Given the description of an element on the screen output the (x, y) to click on. 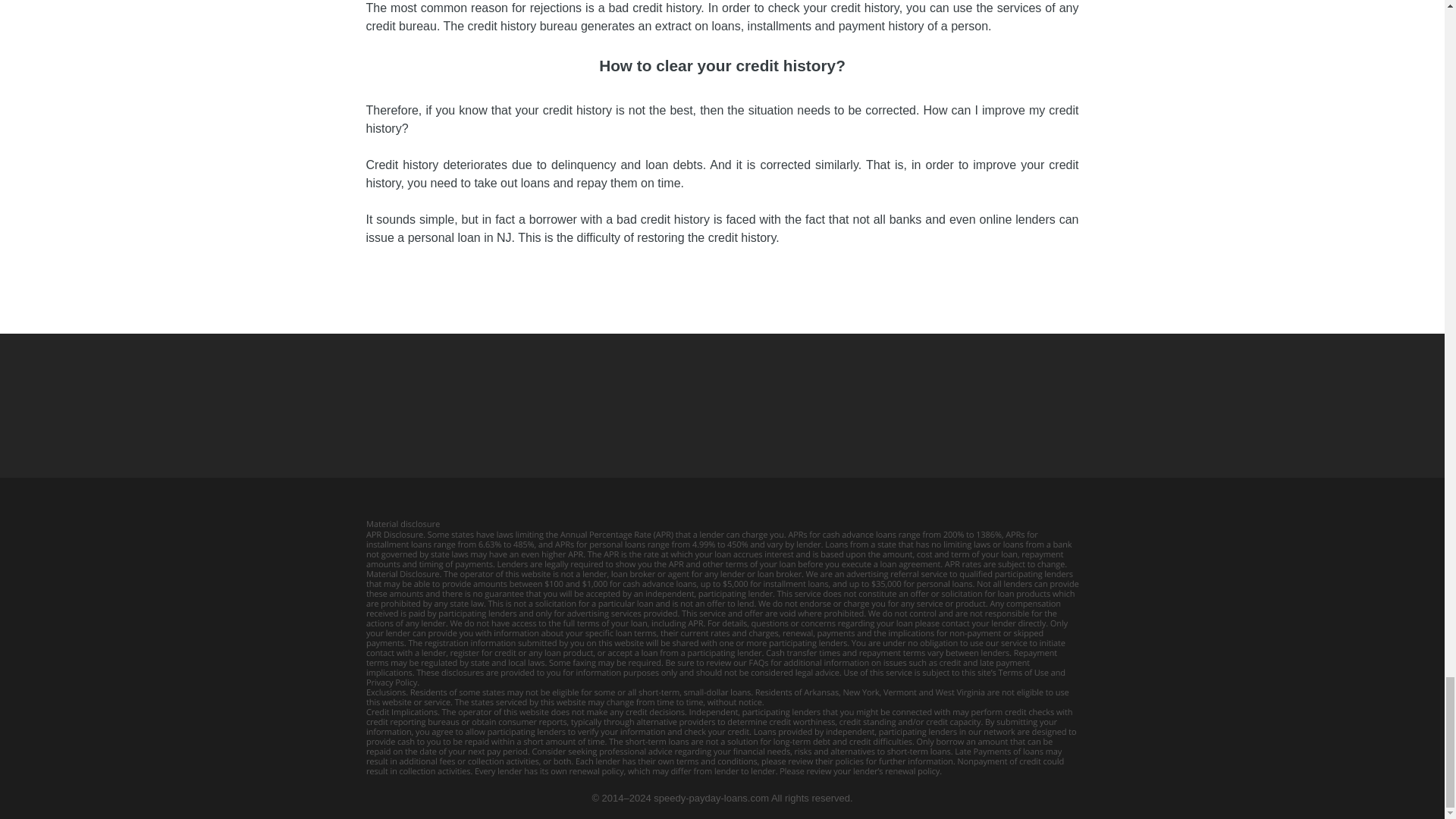
McAfee (603, 405)
